Given the description of an element on the screen output the (x, y) to click on. 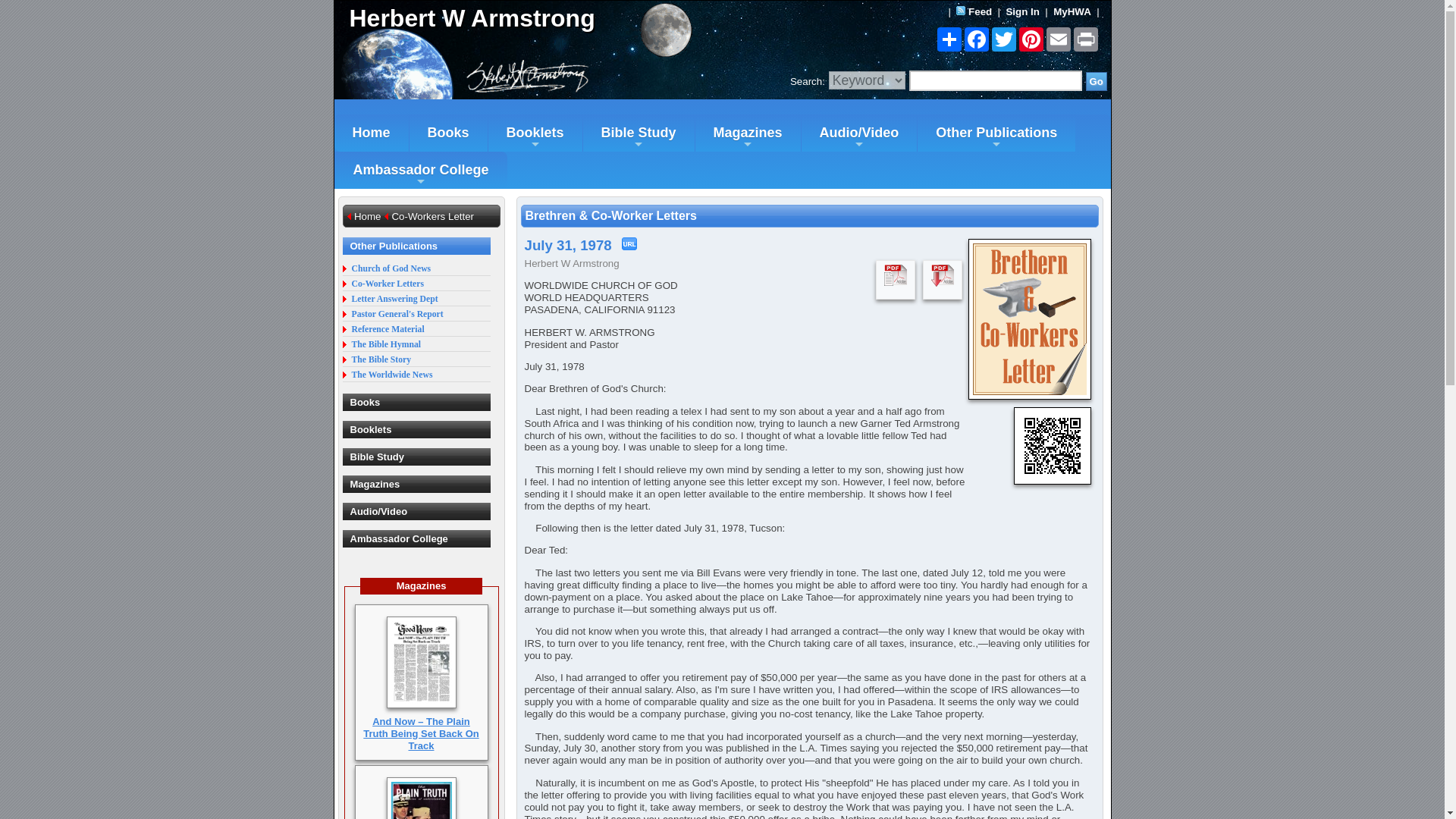
Print (1085, 39)
Books (448, 132)
Herbert W Armstrong Library (528, 18)
Pinterest (1031, 39)
Herbert W Armstrong (528, 18)
Click down arrow to see all 3 search options. (866, 80)
Other Publications (996, 132)
Sign In (1022, 11)
